Given the description of an element on the screen output the (x, y) to click on. 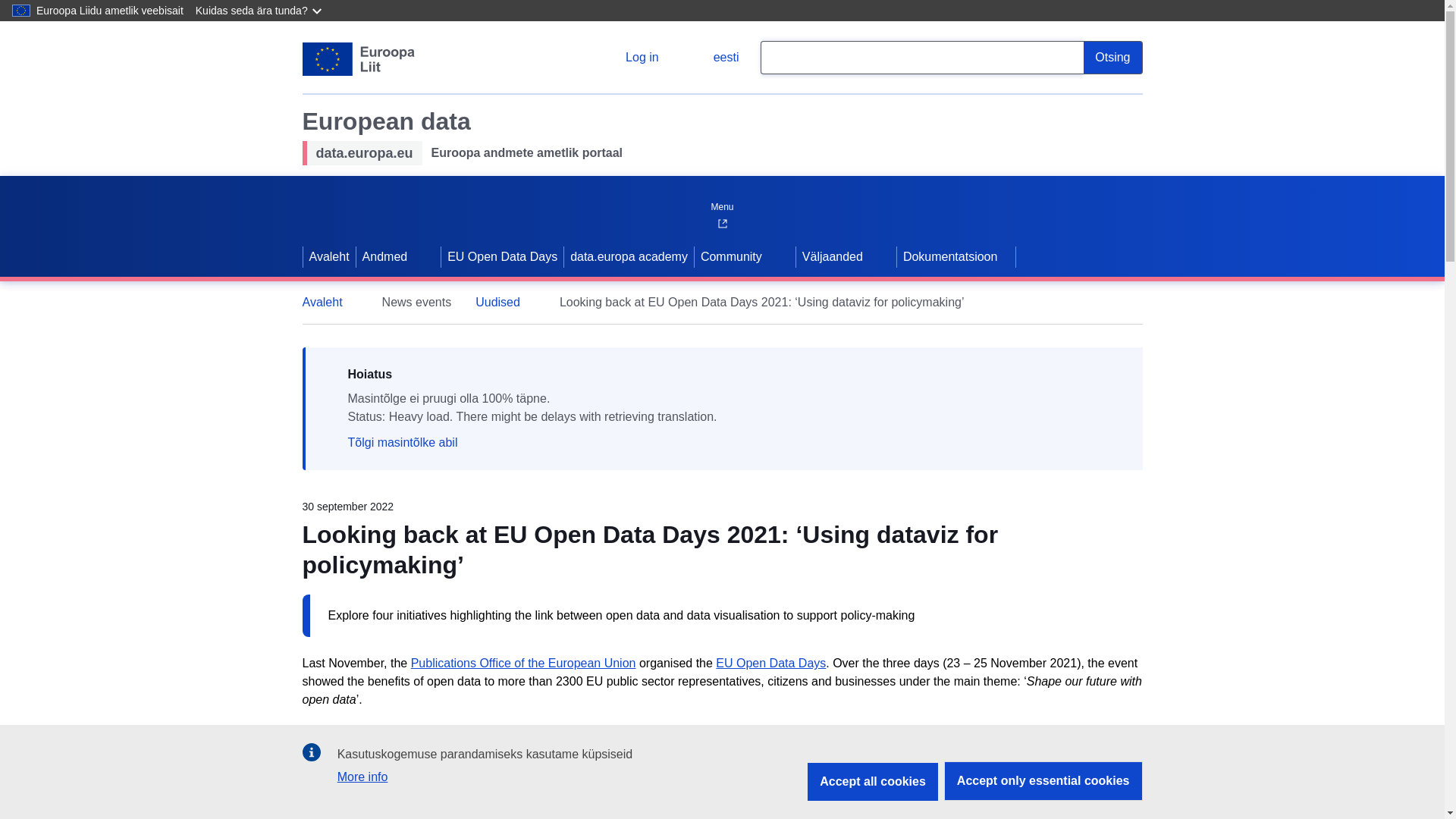
Avaleht (328, 302)
Otsing (1112, 57)
Log in (630, 57)
EU Open Data Days (502, 256)
eesti (714, 57)
data.europa academy (629, 256)
Andmed (383, 256)
Menu (721, 203)
European Union (357, 59)
Avaleht (328, 256)
Dokumentatsioon (956, 256)
Community (729, 256)
